Given the description of an element on the screen output the (x, y) to click on. 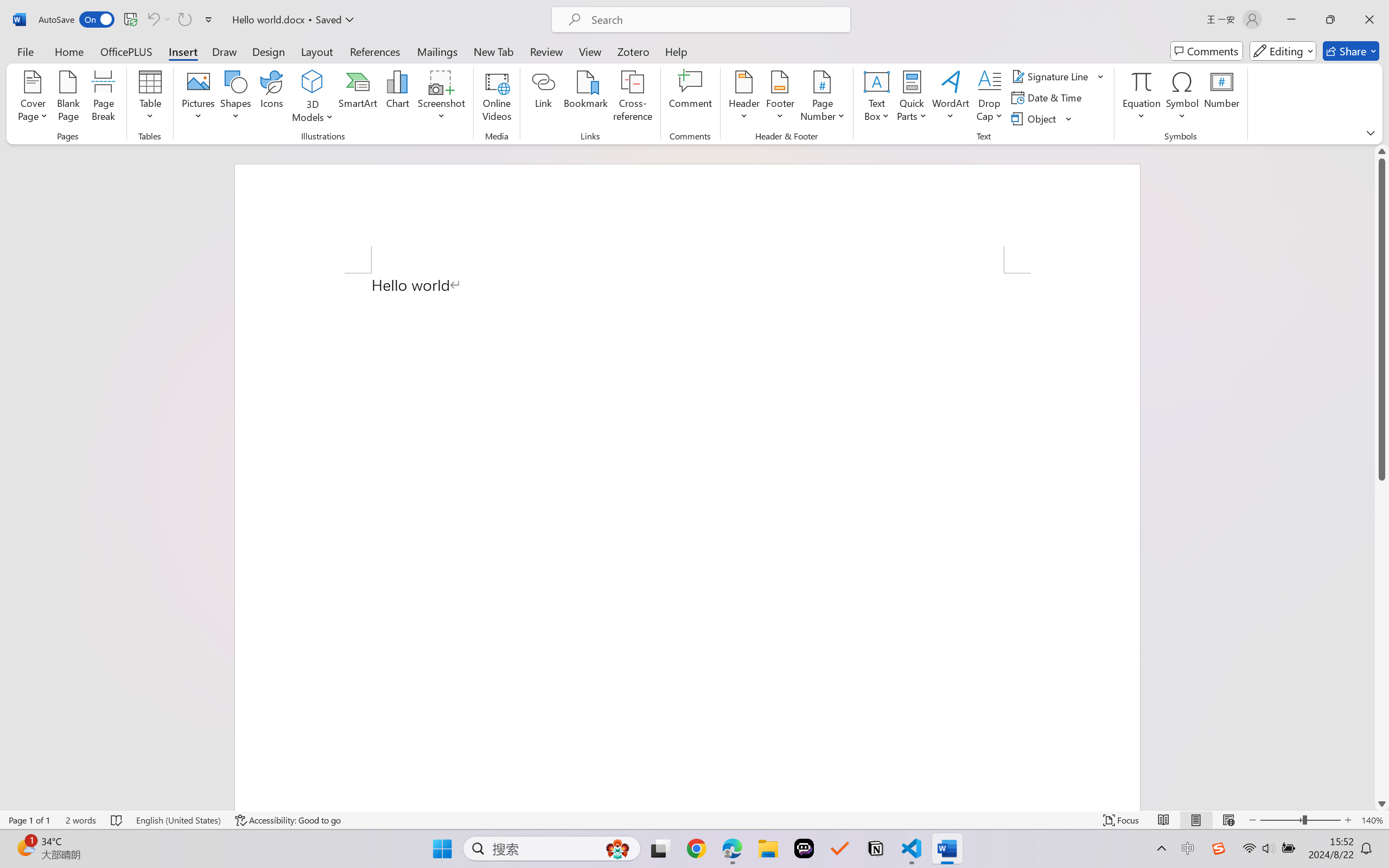
Draw (224, 51)
Insert (182, 51)
Quick Access Toolbar (127, 19)
Page Break (103, 97)
Web Layout (1228, 819)
Help (675, 51)
Online Videos... (496, 97)
Link (543, 97)
Text Box (876, 97)
SmartArt... (358, 97)
File Tab (24, 51)
Date & Time... (1048, 97)
Chart... (396, 97)
Review (546, 51)
